Given the description of an element on the screen output the (x, y) to click on. 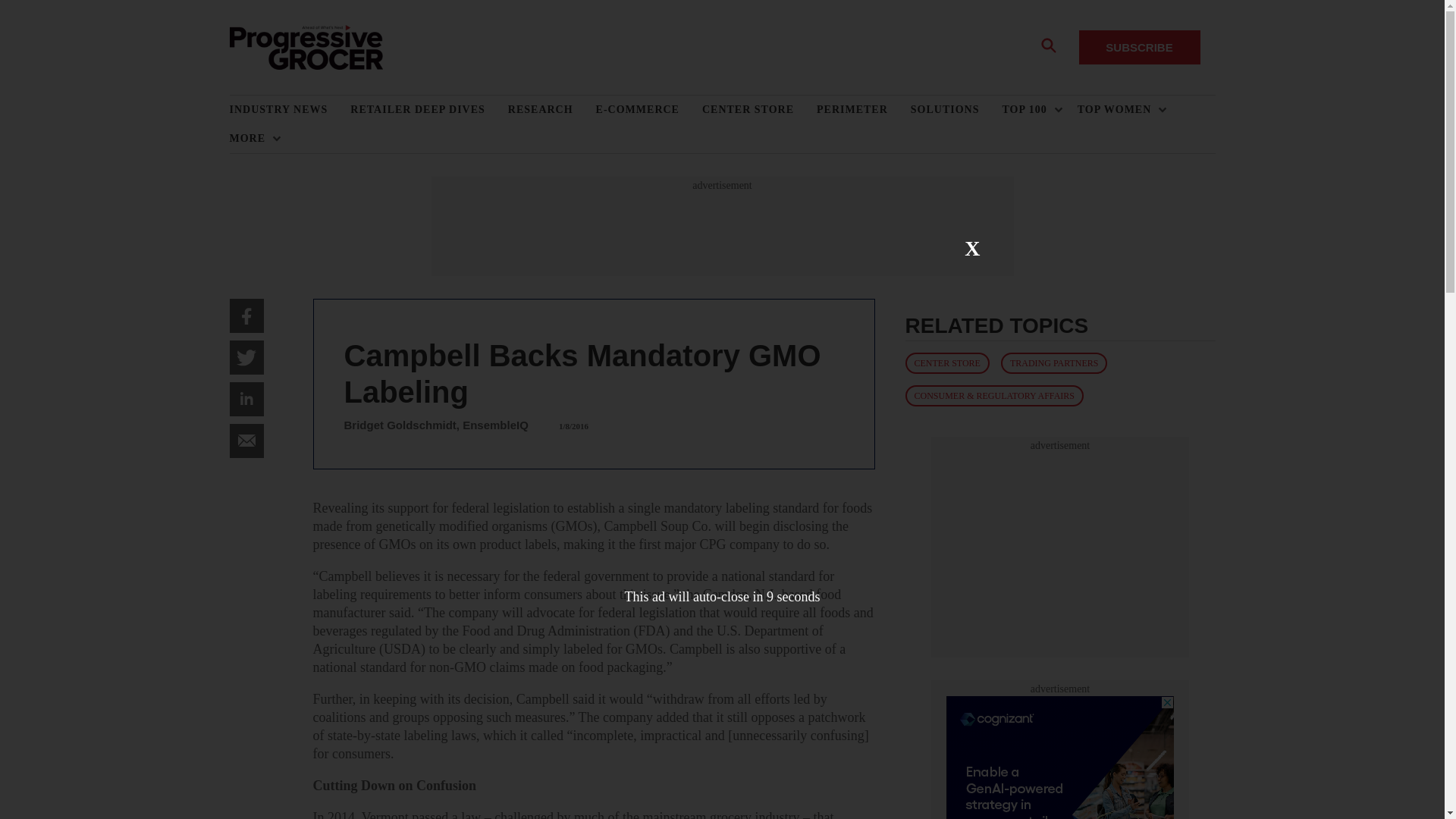
TOP 100 (1028, 109)
SUBSCRIBE (1138, 47)
twitter (245, 357)
linkedIn (245, 399)
facebook (245, 315)
INDUSTRY NEWS (289, 109)
email (245, 440)
RESEARCH (551, 109)
3rd party ad content (1059, 547)
